Given the description of an element on the screen output the (x, y) to click on. 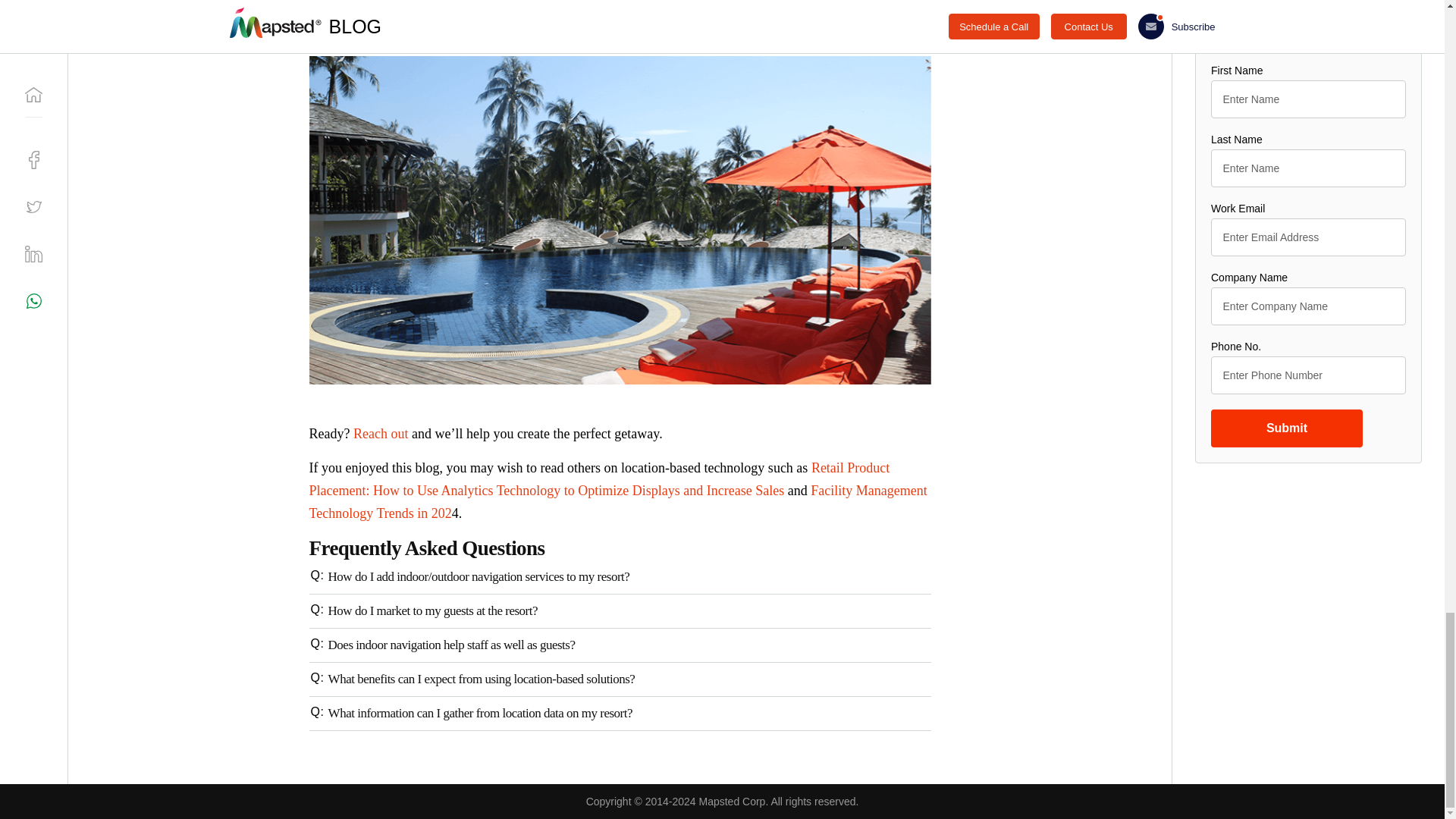
Facility Management Technology Trends in 202 (617, 501)
Reach out (380, 433)
